Given the description of an element on the screen output the (x, y) to click on. 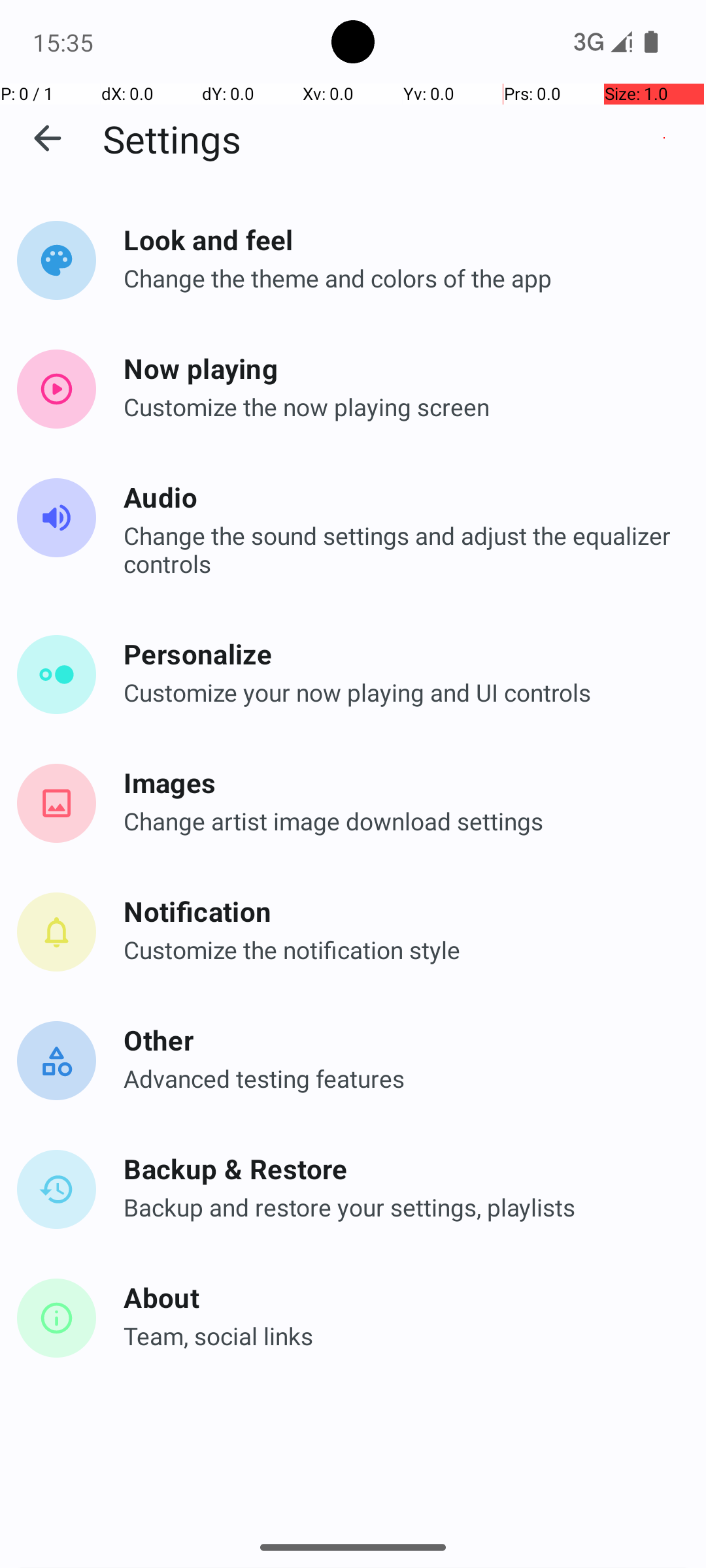
Look and feel Element type: android.widget.TextView (399, 239)
Change the theme and colors of the app Element type: android.widget.TextView (399, 277)
Now playing Element type: android.widget.TextView (399, 367)
Customize the now playing screen Element type: android.widget.TextView (399, 406)
Change the sound settings and adjust the equalizer controls Element type: android.widget.TextView (399, 549)
Personalize Element type: android.widget.TextView (399, 653)
Customize your now playing and UI controls Element type: android.widget.TextView (399, 691)
Change artist image download settings Element type: android.widget.TextView (399, 820)
Notification Element type: android.widget.TextView (399, 910)
Customize the notification style Element type: android.widget.TextView (399, 949)
Other Element type: android.widget.TextView (399, 1039)
Advanced testing features Element type: android.widget.TextView (399, 1077)
Backup & Restore Element type: android.widget.TextView (399, 1168)
Backup and restore your settings, playlists Element type: android.widget.TextView (399, 1206)
About Element type: android.widget.TextView (399, 1296)
Team, social links Element type: android.widget.TextView (399, 1335)
